Given the description of an element on the screen output the (x, y) to click on. 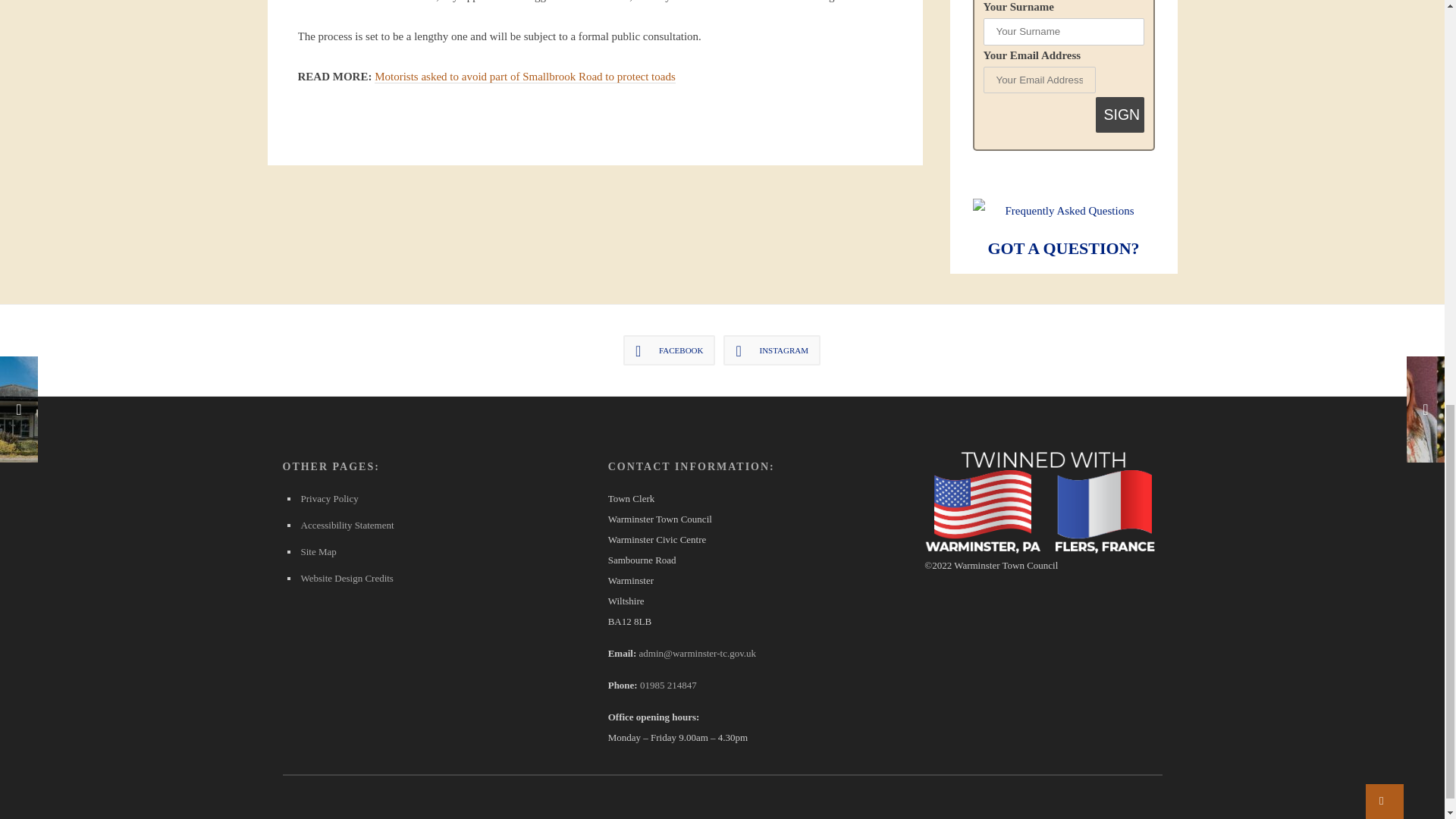
Instagram (772, 349)
SIGN UP (1120, 114)
Facebook (668, 349)
Frequently Asked Questions (1063, 211)
